Given the description of an element on the screen output the (x, y) to click on. 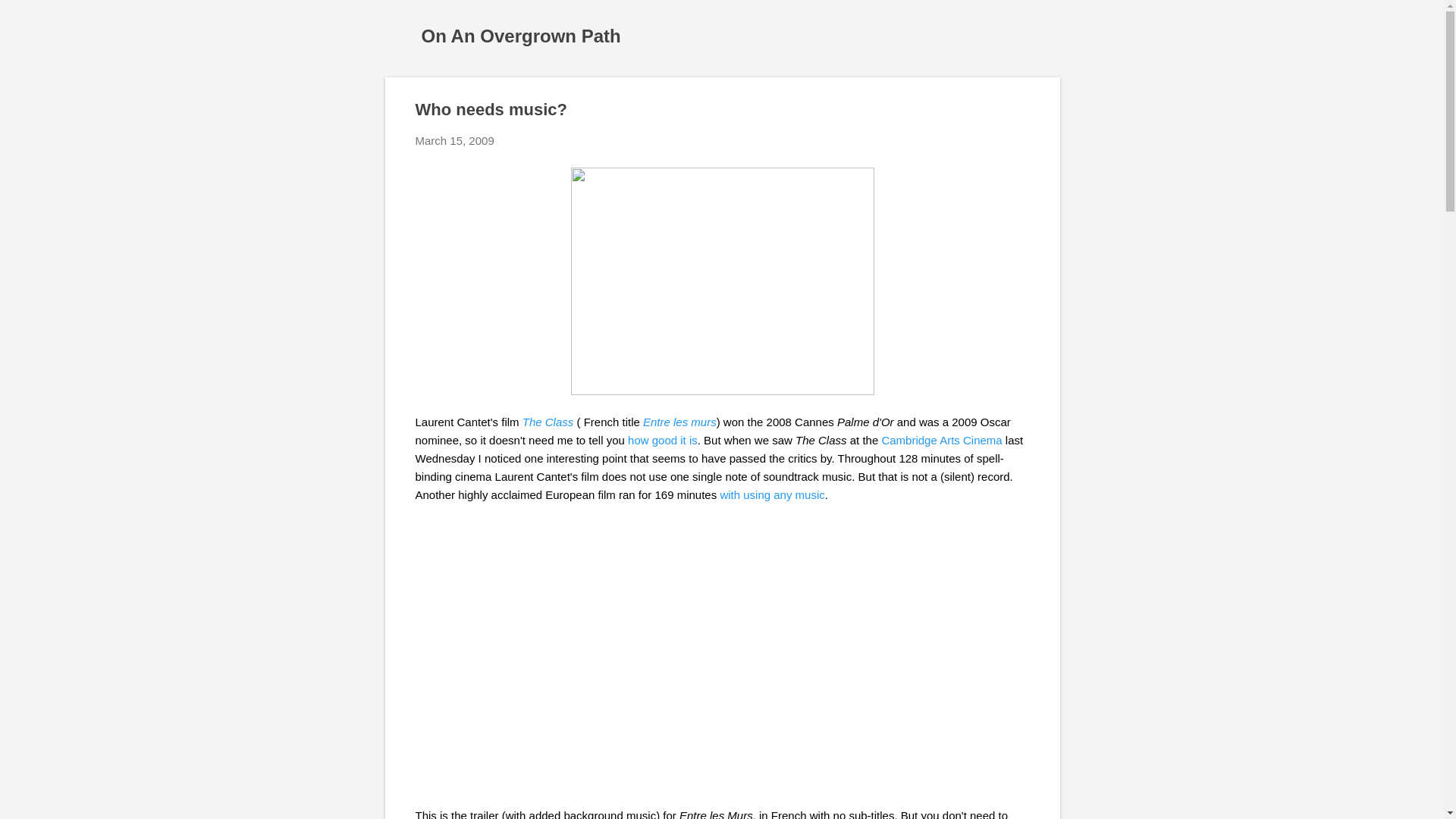
how good it is (662, 440)
with using any music (771, 494)
Search (29, 18)
Entre les murs (679, 421)
On An Overgrown Path (521, 35)
permanent link (454, 140)
The Class (547, 421)
Cambridge Arts Cinema (940, 440)
March 15, 2009 (454, 140)
